Given the description of an element on the screen output the (x, y) to click on. 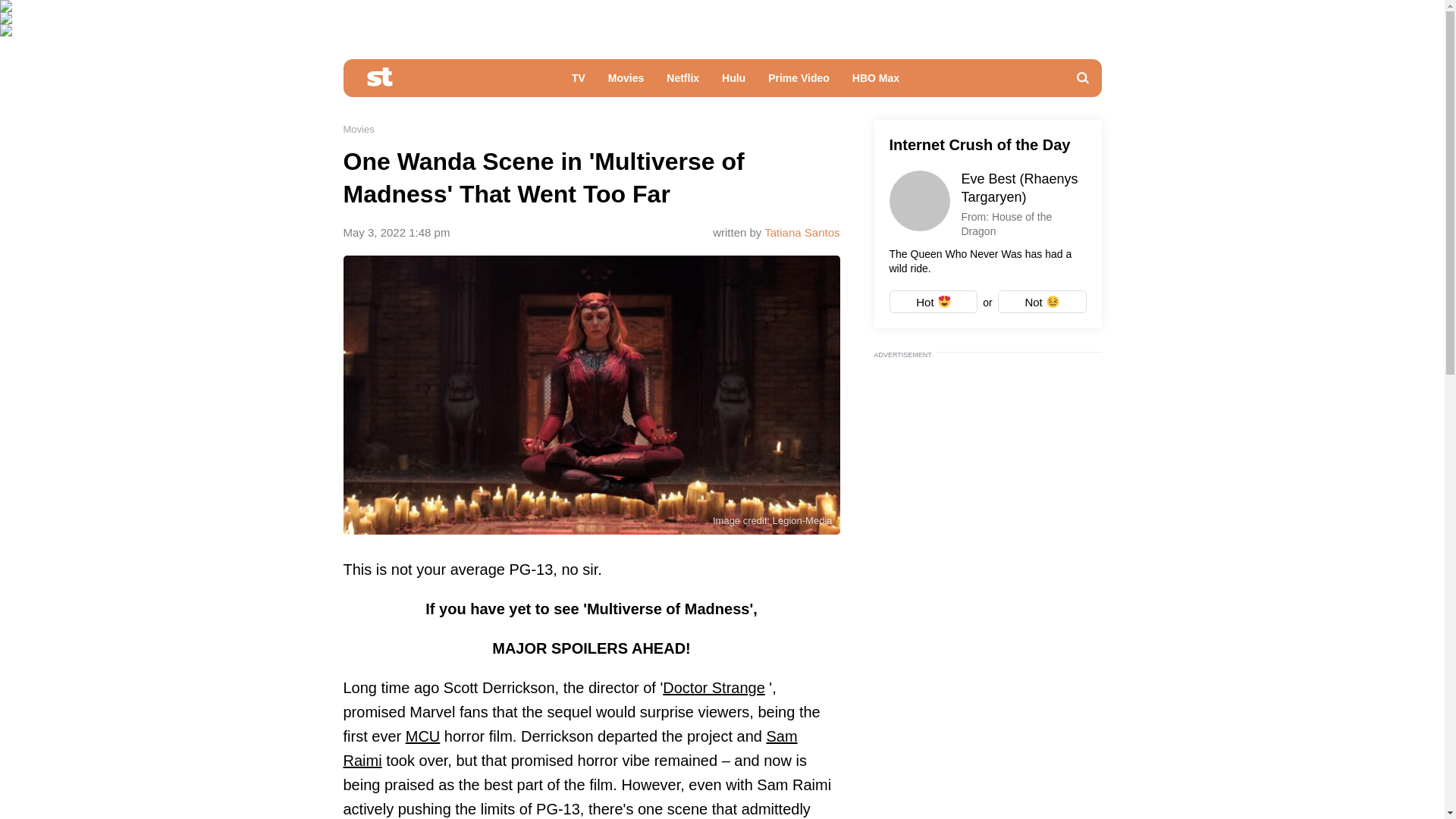
HBO Max (876, 82)
Sam Raimi (569, 748)
Movies (358, 128)
Doctor Strange (713, 687)
Prime Video (799, 82)
Movies (625, 82)
TV (578, 82)
Hulu (733, 82)
Tatiana Santos (802, 232)
Netflix (682, 82)
MCU (423, 736)
